Given the description of an element on the screen output the (x, y) to click on. 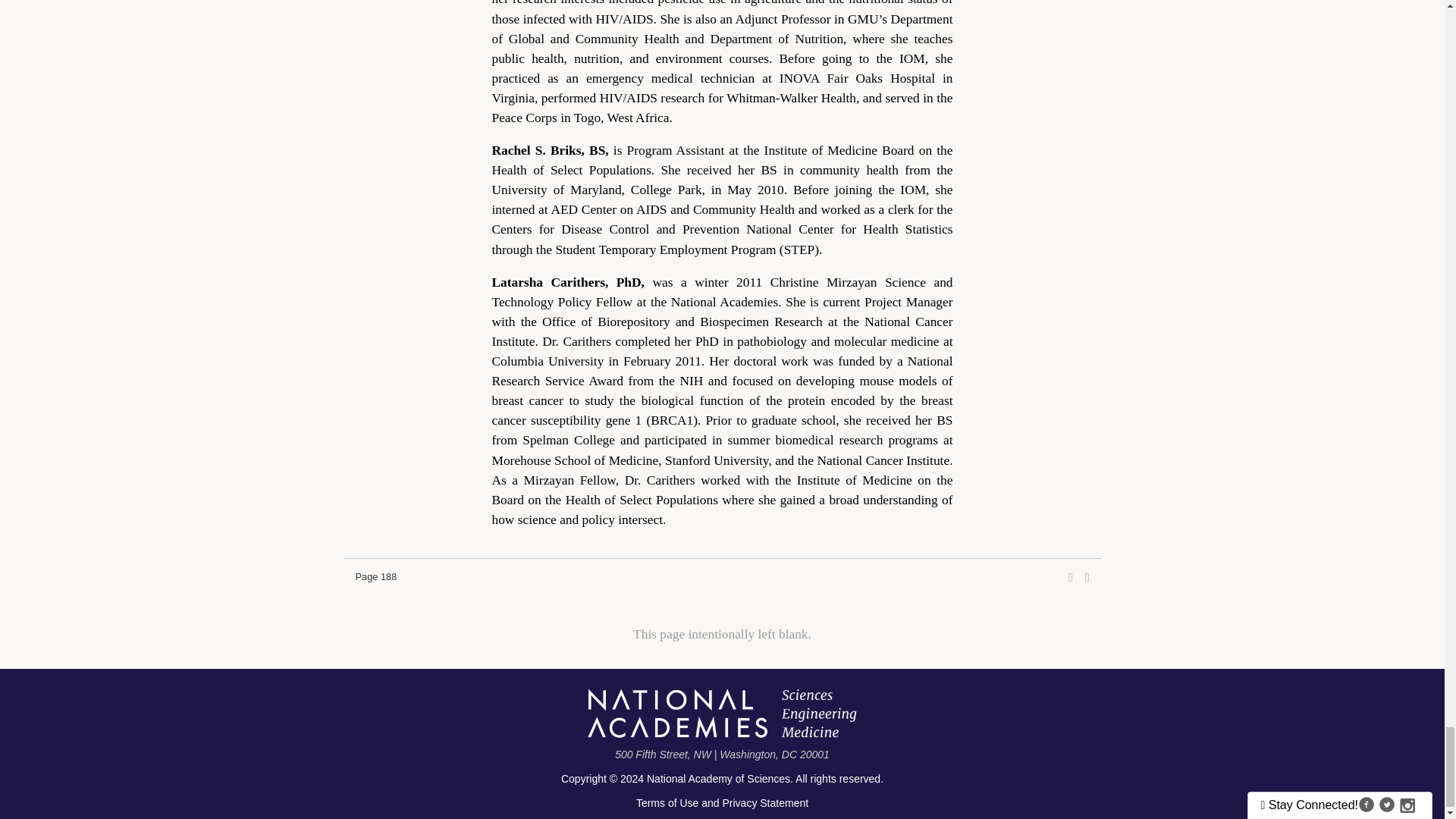
Share this page (1070, 577)
